Given the description of an element on the screen output the (x, y) to click on. 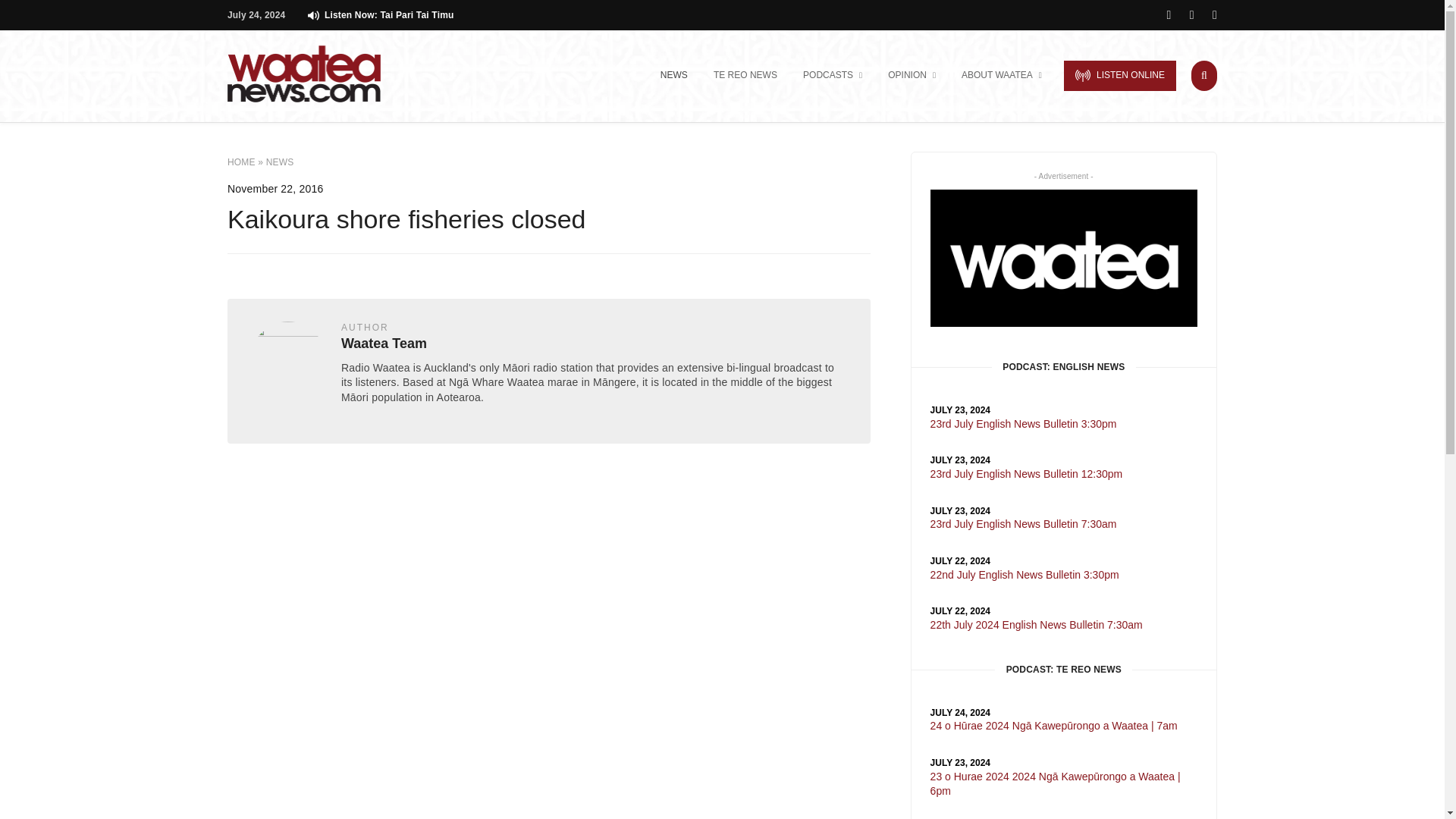
NEWS (673, 76)
Listen Now: Tai Pari Tai Timu (379, 14)
PODCASTS (832, 76)
TE REO NEWS (745, 76)
